Given the description of an element on the screen output the (x, y) to click on. 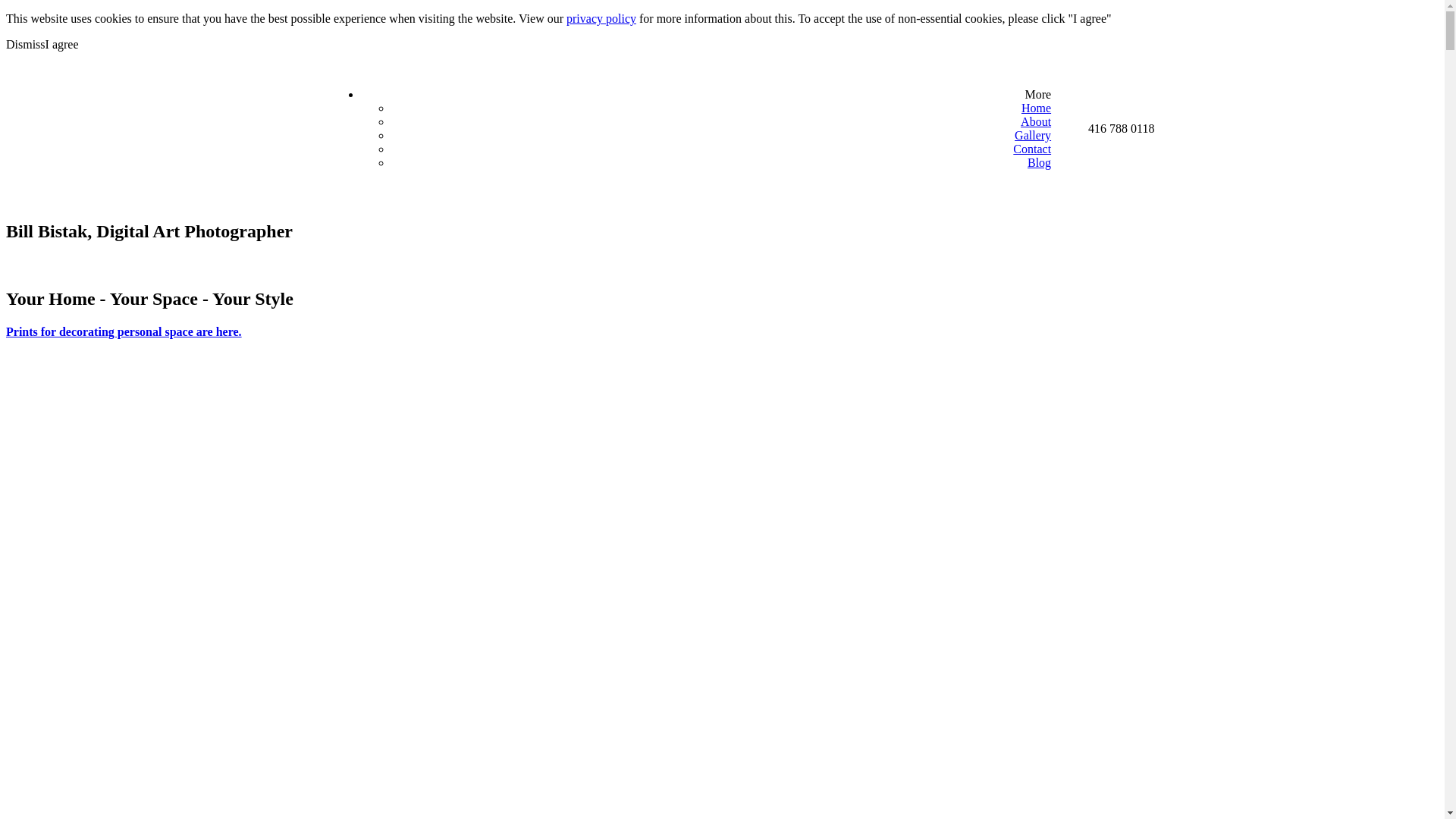
Prints for decorating personal space are here. Element type: text (123, 331)
Contact Element type: text (1032, 148)
More Element type: text (1037, 93)
Home Element type: text (1036, 107)
Blog Element type: text (1039, 162)
privacy policy Element type: text (601, 18)
Gallery Element type: text (1032, 134)
About Element type: text (1035, 121)
